Given the description of an element on the screen output the (x, y) to click on. 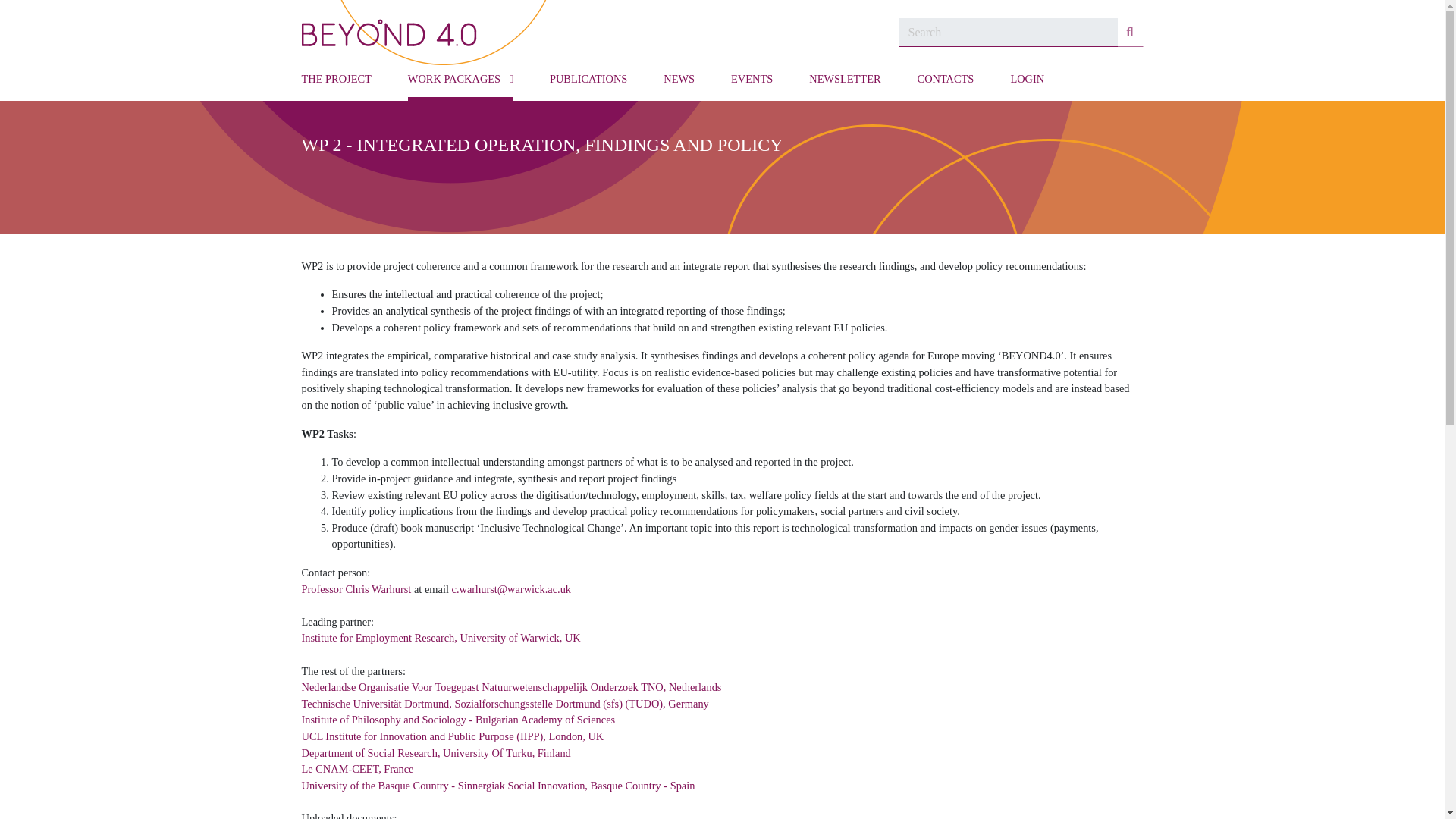
Institute for Employment Research, University of Warwick, UK (440, 637)
NEWSLETTER (844, 82)
PUBLICATIONS (588, 82)
Department of Social Research, University Of Turku, Finland (435, 752)
EVENTS (751, 82)
LOGIN (1026, 82)
WORK PACKAGES (460, 82)
Professor Chris Warhurst (356, 589)
CONTACTS (945, 82)
THE PROJECT (336, 82)
Le CNAM-CEET, France (357, 768)
